Given the description of an element on the screen output the (x, y) to click on. 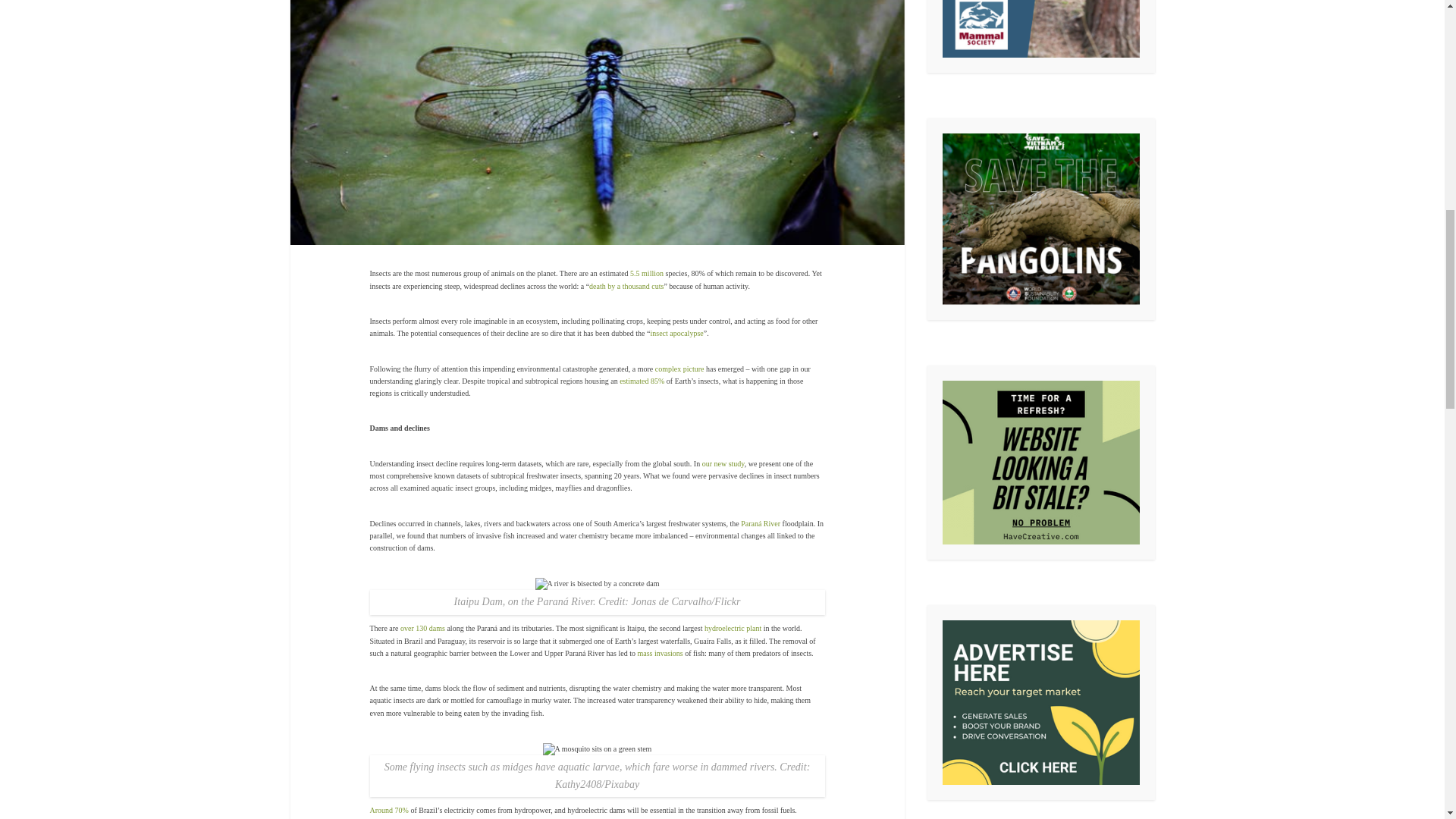
over 130 dams (422, 628)
5.5 million (646, 273)
insect apocalypse (676, 333)
mass invasions (659, 653)
our new study (722, 463)
complex picture (679, 368)
death by a thousand cuts (626, 285)
hydroelectric plant (732, 628)
